Given the description of an element on the screen output the (x, y) to click on. 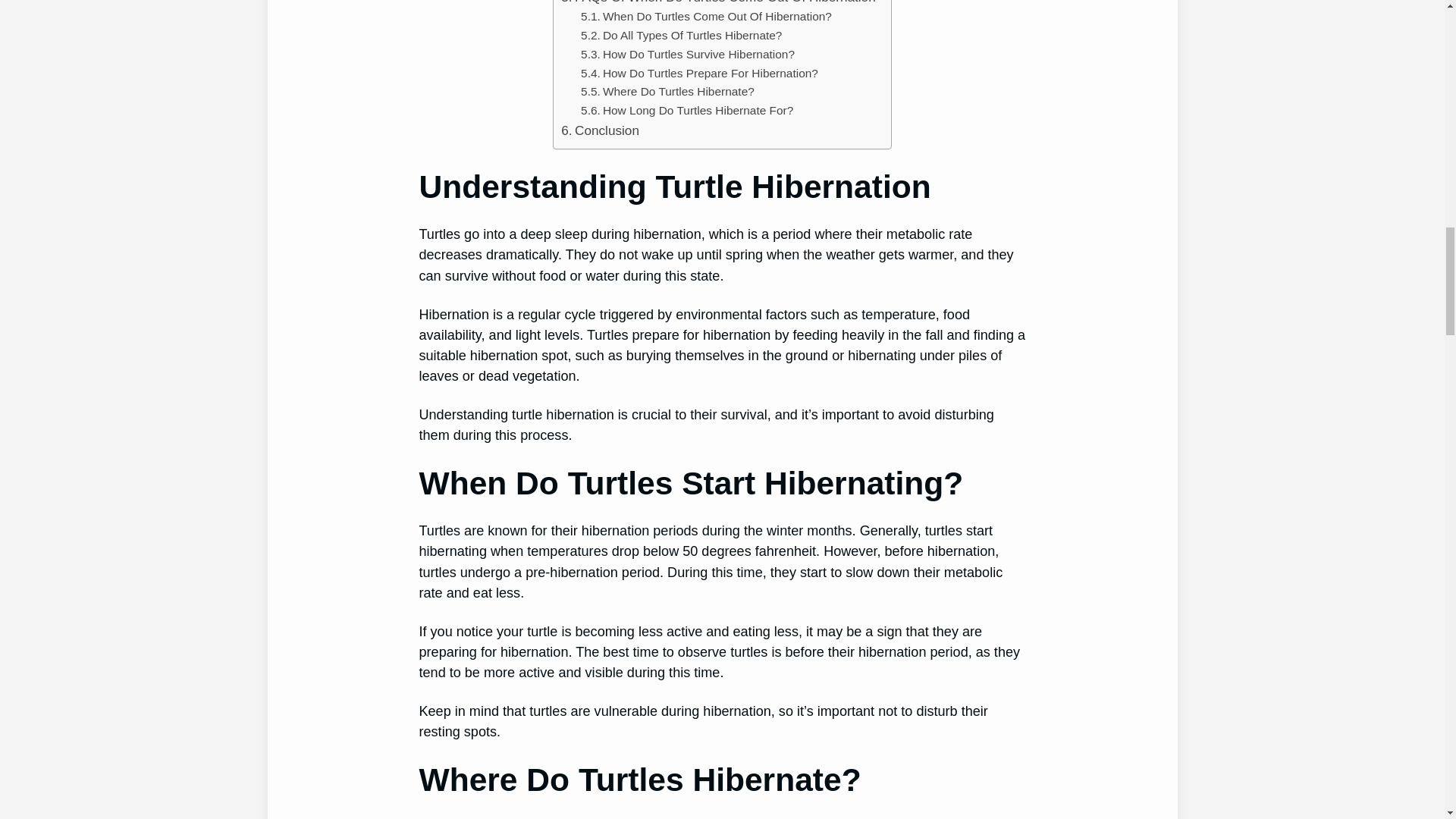
Conclusion (599, 130)
FAQs Of When Do Turtles Come Out Of Hibernation (717, 3)
How Do Turtles Survive Hibernation? (687, 54)
Do All Types Of Turtles Hibernate? (680, 35)
How Do Turtles Prepare For Hibernation? (699, 73)
How Long Do Turtles Hibernate For? (686, 110)
Where Do Turtles Hibernate? (667, 91)
How Do Turtles Prepare For Hibernation? (699, 73)
When Do Turtles Come Out Of Hibernation? (705, 16)
Do All Types Of Turtles Hibernate? (680, 35)
Where Do Turtles Hibernate? (667, 91)
FAQs Of When Do Turtles Come Out Of Hibernation (717, 3)
How Do Turtles Survive Hibernation? (687, 54)
Conclusion (599, 130)
When Do Turtles Come Out Of Hibernation? (705, 16)
